Given the description of an element on the screen output the (x, y) to click on. 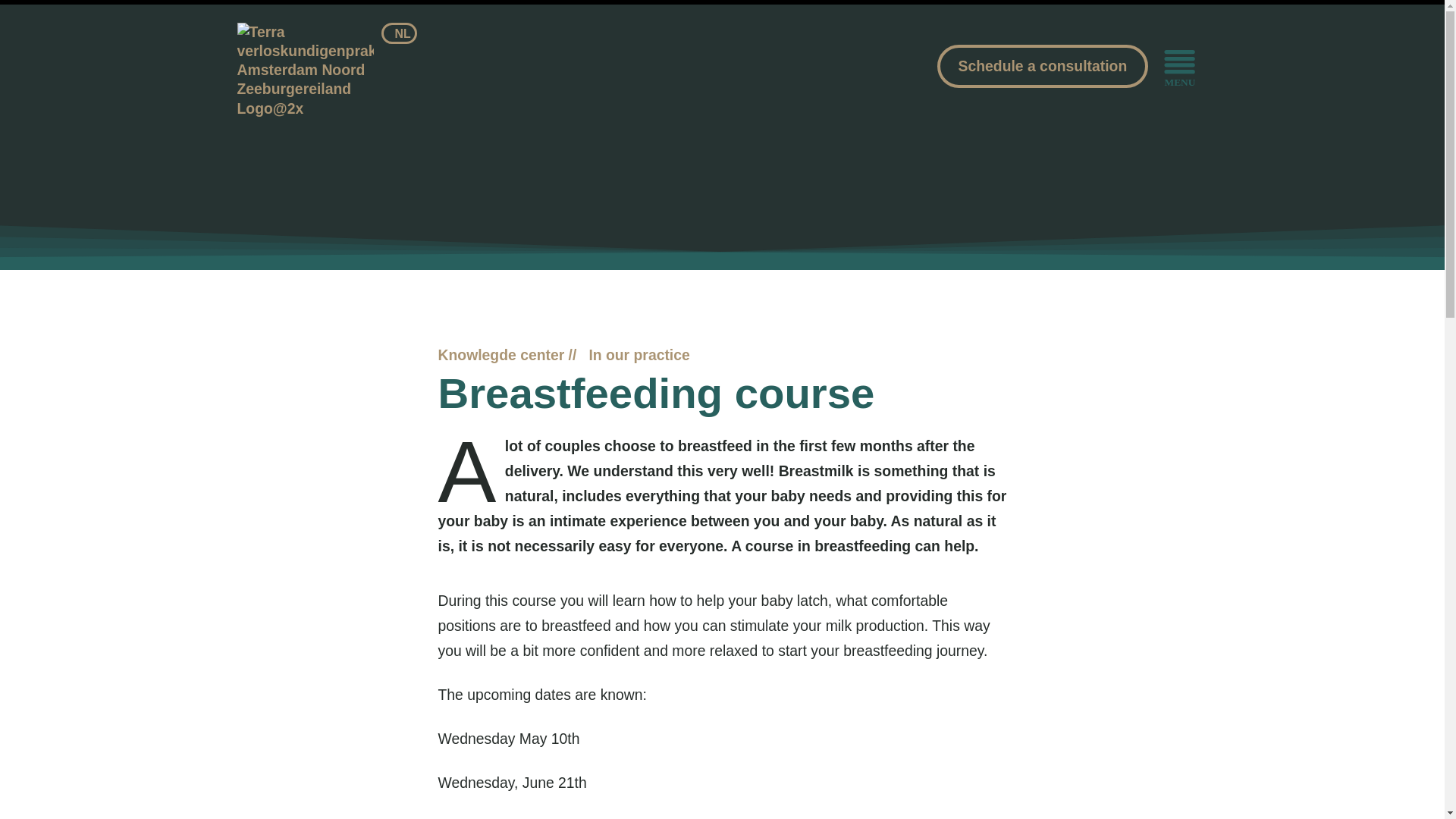
Schedule a consultation (1042, 66)
MENU (1179, 68)
In our practice (638, 354)
MENU (1179, 68)
NL (399, 33)
